Given the description of an element on the screen output the (x, y) to click on. 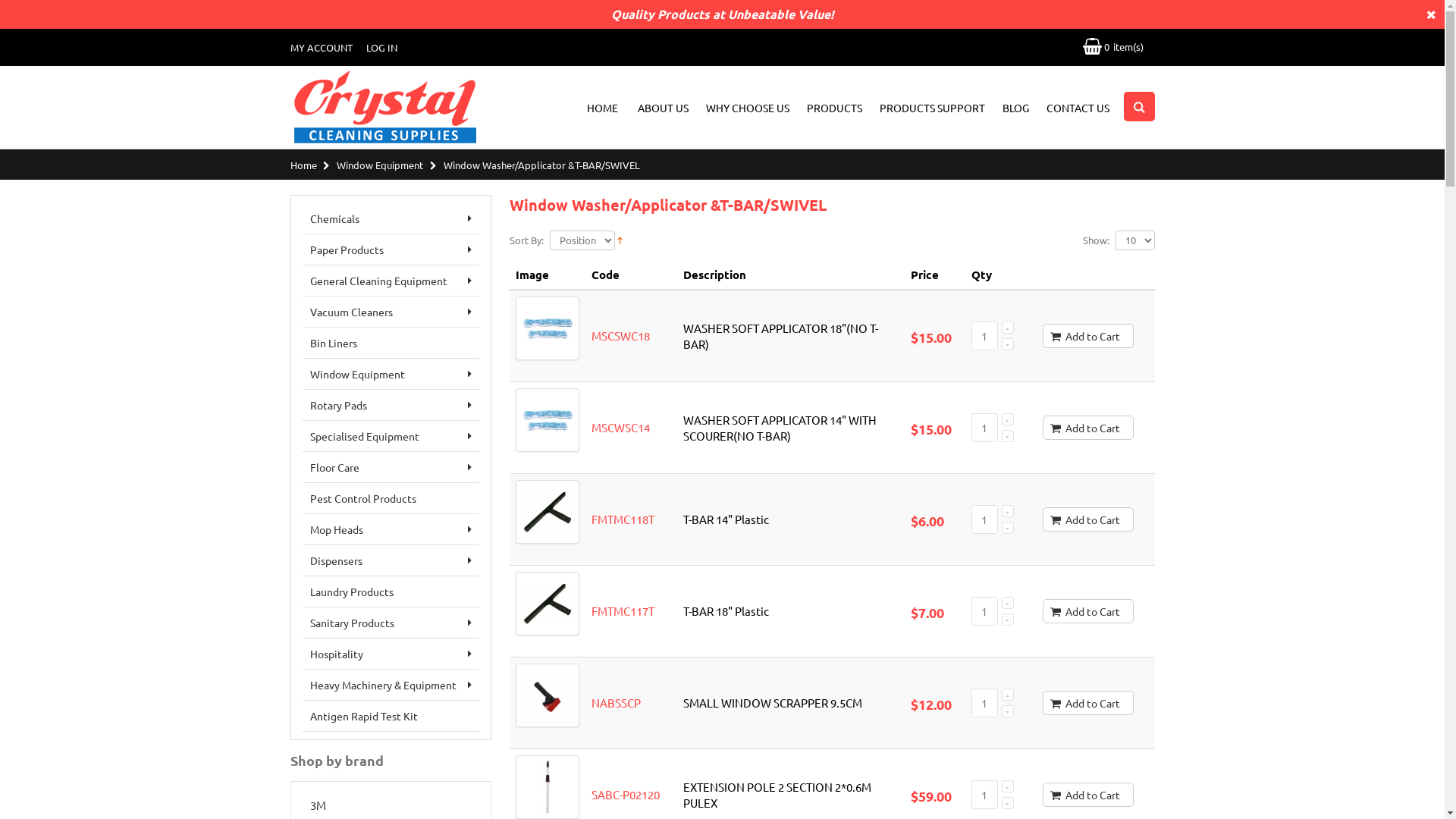
FMTMC118T Element type: text (622, 518)
Qty Element type: hover (984, 427)
Qty Element type: hover (984, 702)
Home Element type: text (302, 165)
Mop Heads Element type: text (390, 529)
 Add to Cart Element type: text (1087, 427)
 Add to Cart Element type: text (1087, 702)
ABOUT US Element type: text (662, 107)
Window Equipment Element type: text (390, 373)
 Add to Cart Element type: text (1087, 611)
Chemicals Element type: text (390, 218)
LOG IN Element type: text (380, 47)
Hospitality Element type: text (390, 653)
 Add to Cart Element type: text (1087, 519)
Pest Control Products Element type: text (390, 498)
0item(s) Element type: text (1112, 45)
Rotary Pads Element type: text (390, 404)
BLOG Element type: text (1015, 107)
Paper Products Element type: text (390, 249)
Bin Liners Element type: text (390, 342)
HOME Element type: text (602, 107)
 Add to Cart Element type: text (1087, 794)
Set Descending Direction Element type: hover (619, 237)
Specialised Equipment Element type: text (390, 435)
MY ACCOUNT Element type: text (320, 47)
SABC-P02120 Element type: text (625, 794)
PRODUCTS SUPPORT Element type: text (932, 107)
MSCWSC14 Element type: text (620, 427)
WHY CHOOSE US Element type: text (746, 107)
 Add to Cart Element type: text (1087, 335)
Sanitary Products Element type: text (390, 622)
General Cleaning Equipment Element type: text (390, 280)
Floor Care Element type: text (390, 467)
Vacuum Cleaners Element type: text (390, 311)
Qty Element type: hover (984, 610)
CONTACT US Element type: text (1077, 107)
NABSSCP Element type: text (615, 702)
Laundry Products Element type: text (390, 591)
MSCSWC18 Element type: text (620, 335)
Qty Element type: hover (984, 335)
Qty Element type: hover (984, 519)
Qty Element type: hover (984, 794)
Antigen Rapid Test Kit Element type: text (390, 715)
Window Equipment Element type: text (379, 165)
Dispensers Element type: text (390, 560)
PRODUCTS Element type: text (834, 107)
FMTMC117T Element type: text (622, 610)
Crystal Cleaning Supplies Element type: hover (385, 106)
Heavy Machinery & Equipment Element type: text (390, 684)
